Given the description of an element on the screen output the (x, y) to click on. 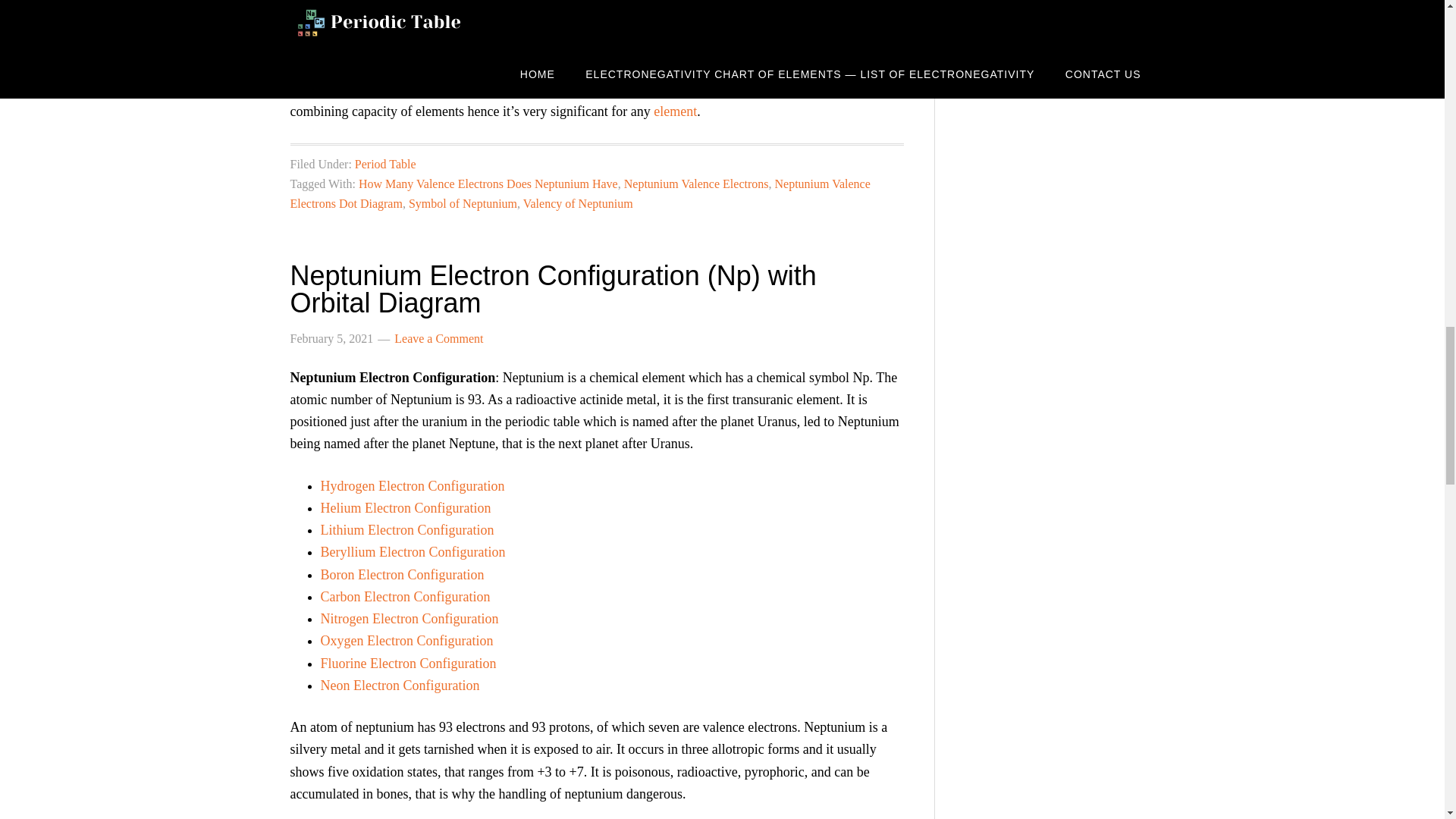
How Many Valence Electrons Does Neptunium Have (487, 183)
Beryllium Electron Configuration (412, 551)
Oxygen Electron Configuration (406, 640)
Lithium Electron Configuration (406, 529)
Nitrogen Electron Configuration (408, 618)
Neon Electron Configuration (399, 685)
Boron Electron Configuration (401, 574)
Neptunium Valence Electrons (696, 183)
Fluorine Electron Configuration (408, 663)
Valency of Neptunium (577, 203)
Leave a Comment (438, 338)
Symbol of Neptunium (462, 203)
Helium Electron Configuration (405, 507)
Carbon Electron Configuration (404, 596)
element (675, 111)
